Given the description of an element on the screen output the (x, y) to click on. 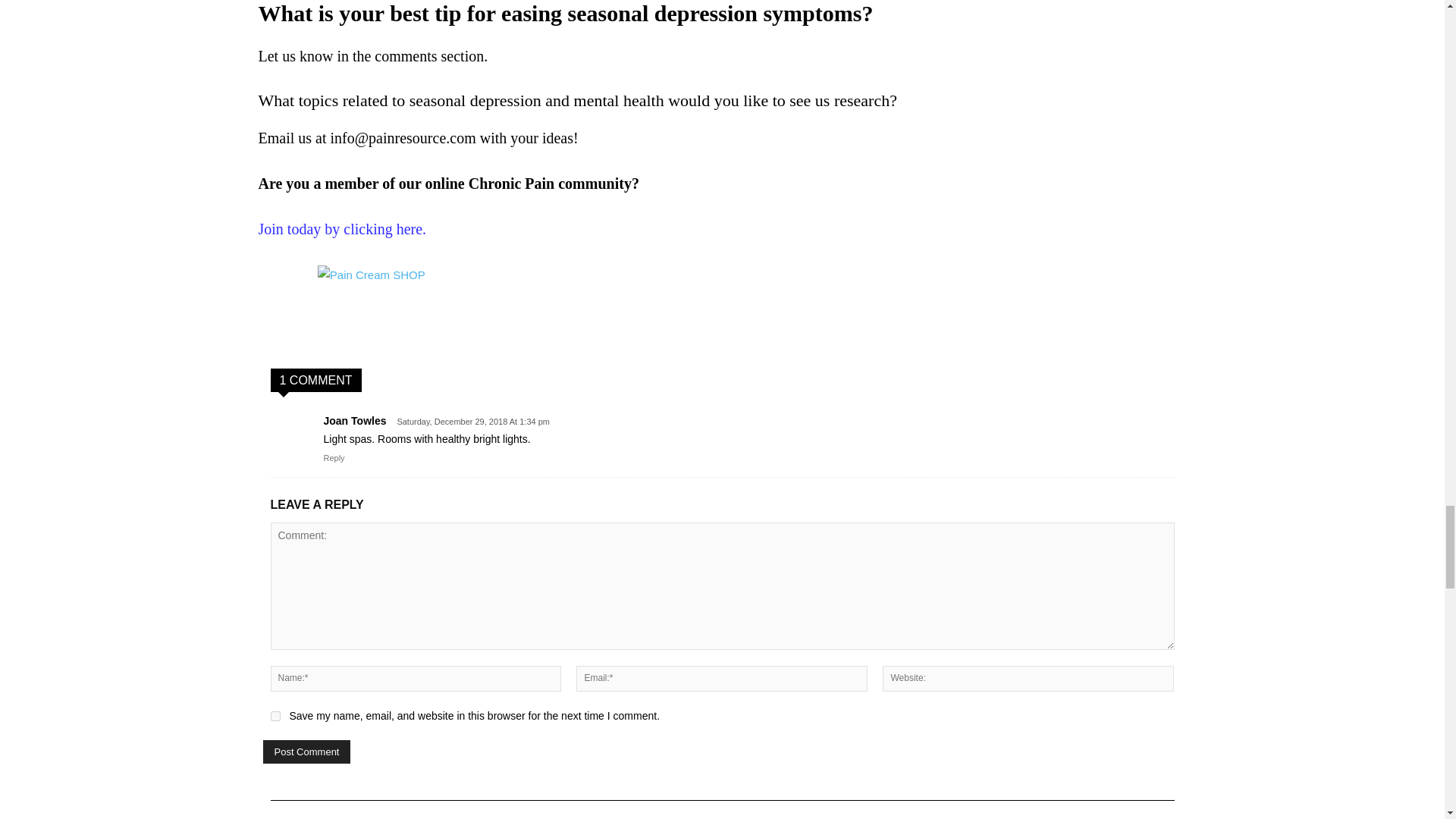
yes (274, 716)
Post Comment (306, 751)
